Given the description of an element on the screen output the (x, y) to click on. 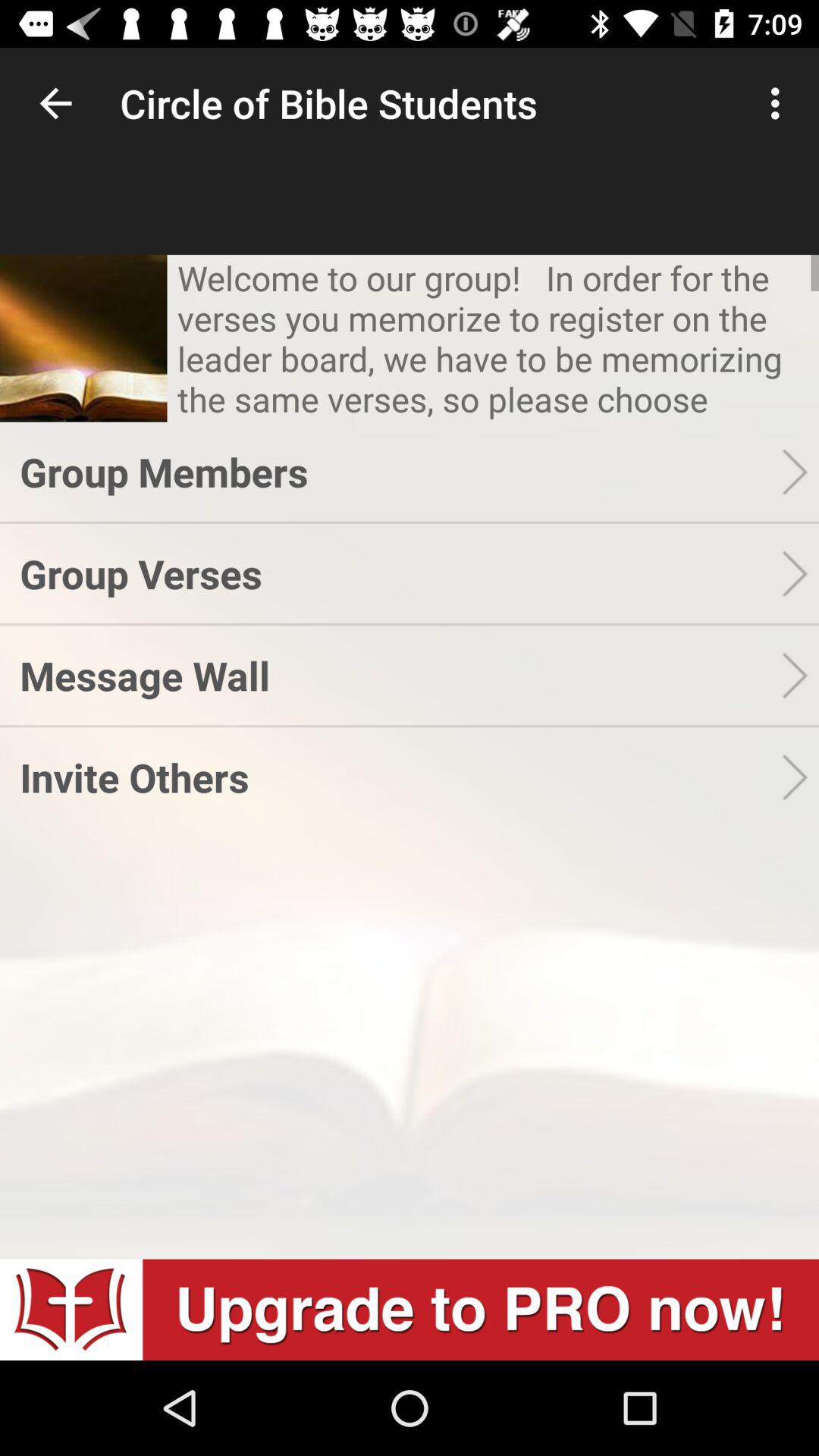
click the icon to the right of circle of bible item (779, 103)
